Given the description of an element on the screen output the (x, y) to click on. 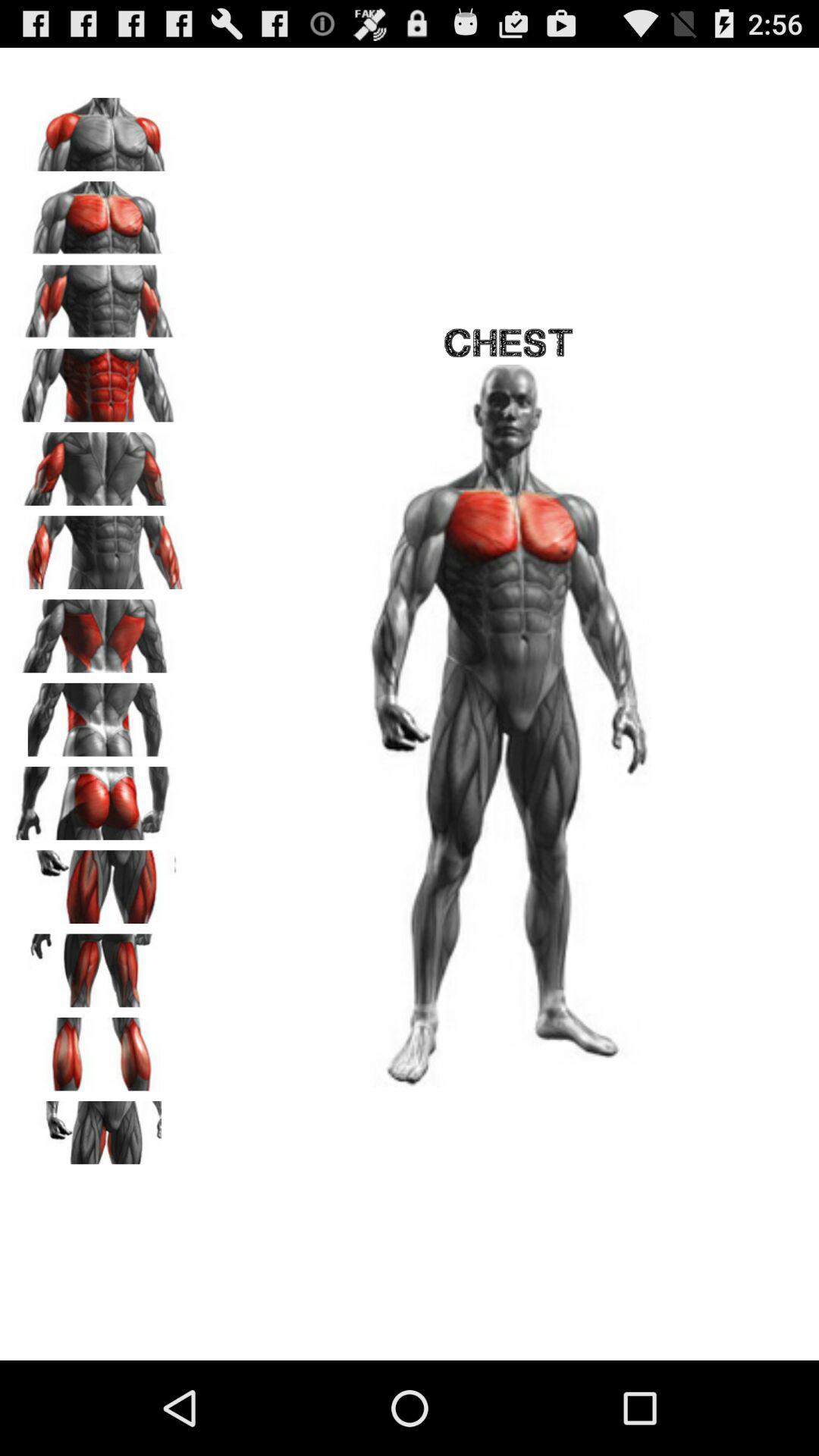
selects mussles (99, 296)
